Given the description of an element on the screen output the (x, y) to click on. 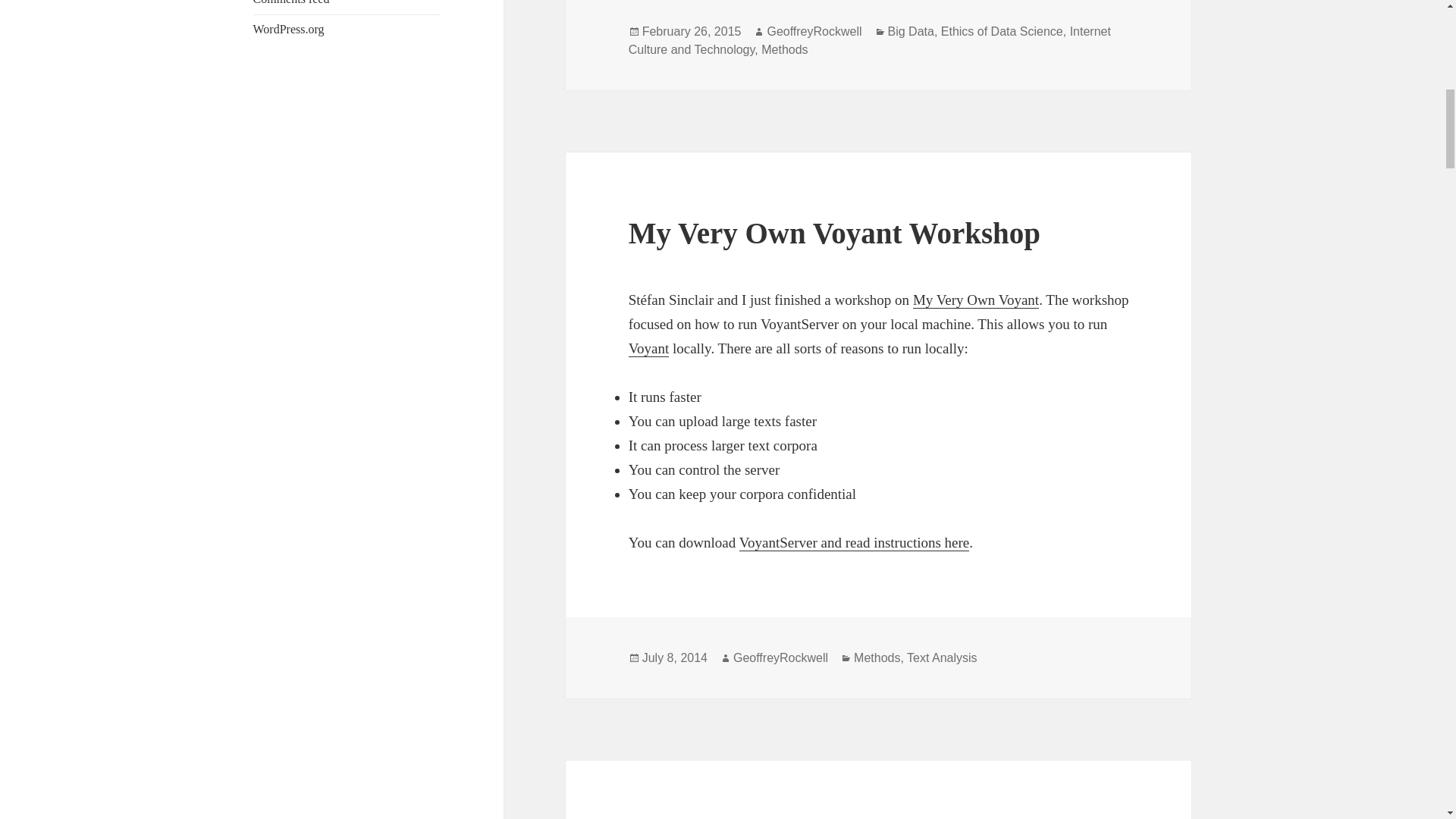
My Very Own Voyant (975, 299)
February 26, 2015 (691, 31)
GeoffreyRockwell (814, 31)
Methods (784, 49)
Ethics of Data Science (1001, 31)
Text Analysis (941, 658)
Internet Culture and Technology (869, 40)
My Very Own Voyant Workshop (834, 233)
VoyantServer and read instructions here (854, 542)
July 8, 2014 (674, 658)
Voyant (648, 348)
GeoffreyRockwell (780, 658)
Comments feed (291, 2)
WordPress.org (288, 29)
Methods (876, 658)
